Given the description of an element on the screen output the (x, y) to click on. 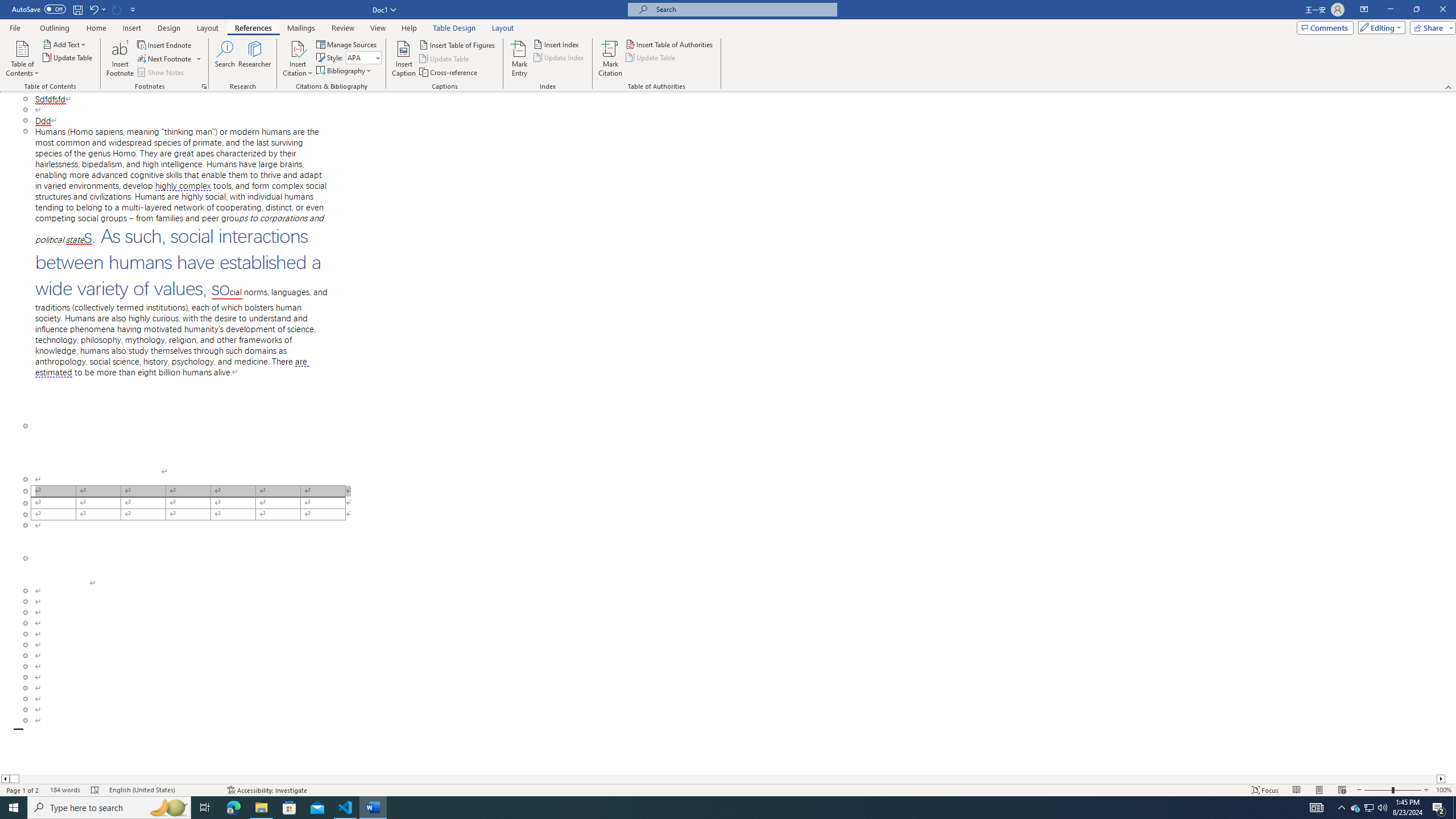
Manage Sources... (347, 44)
Insert Footnote (119, 58)
Style (363, 56)
Can't Repeat (117, 9)
Mark Entry... (519, 58)
